Given the description of an element on the screen output the (x, y) to click on. 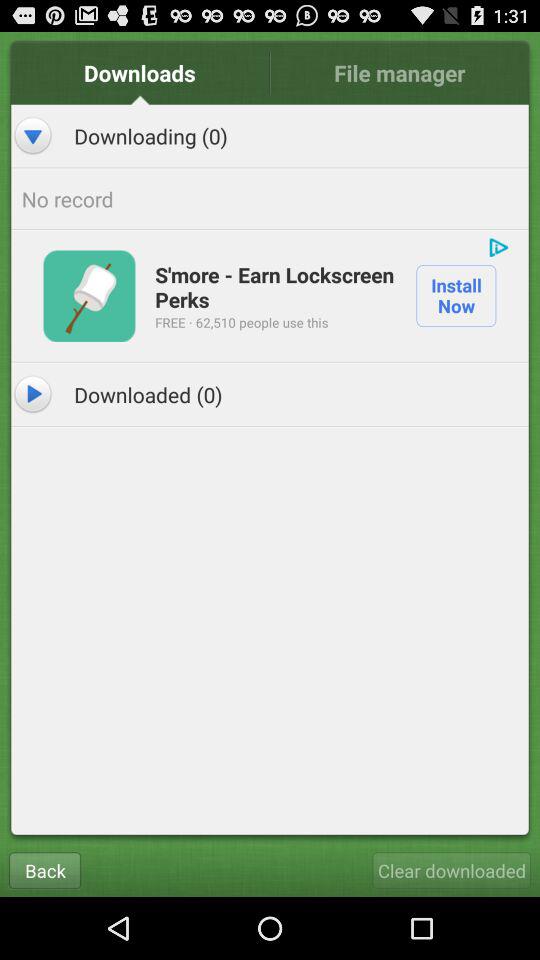
jump to the downloads (139, 72)
